Given the description of an element on the screen output the (x, y) to click on. 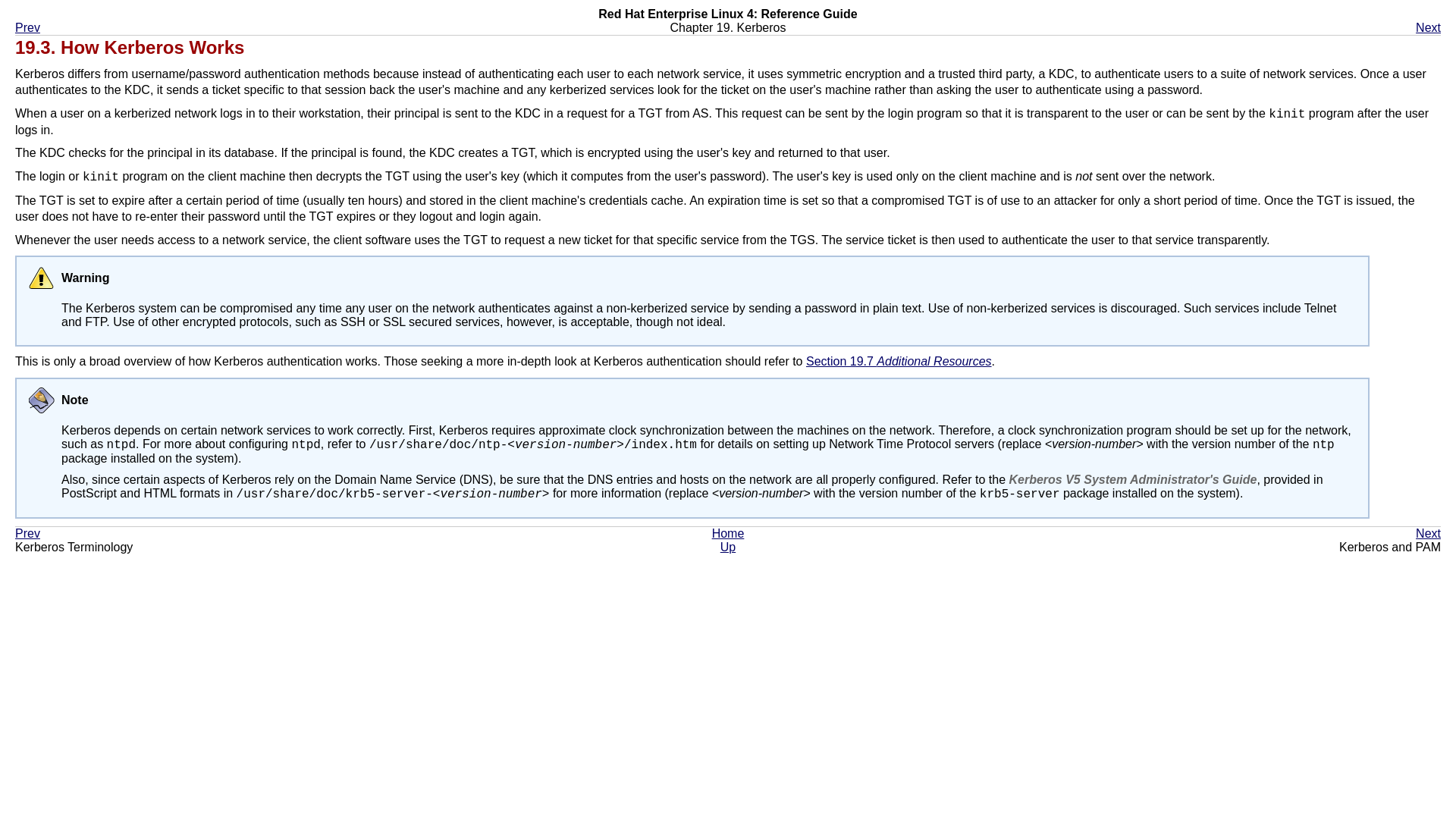
Section 19.7 Additional Resources (898, 360)
Home (727, 533)
Prev (27, 27)
Next (1428, 27)
19.3. How Kerberos Works (129, 46)
Up (727, 546)
Next (1428, 533)
Prev (27, 533)
